Given the description of an element on the screen output the (x, y) to click on. 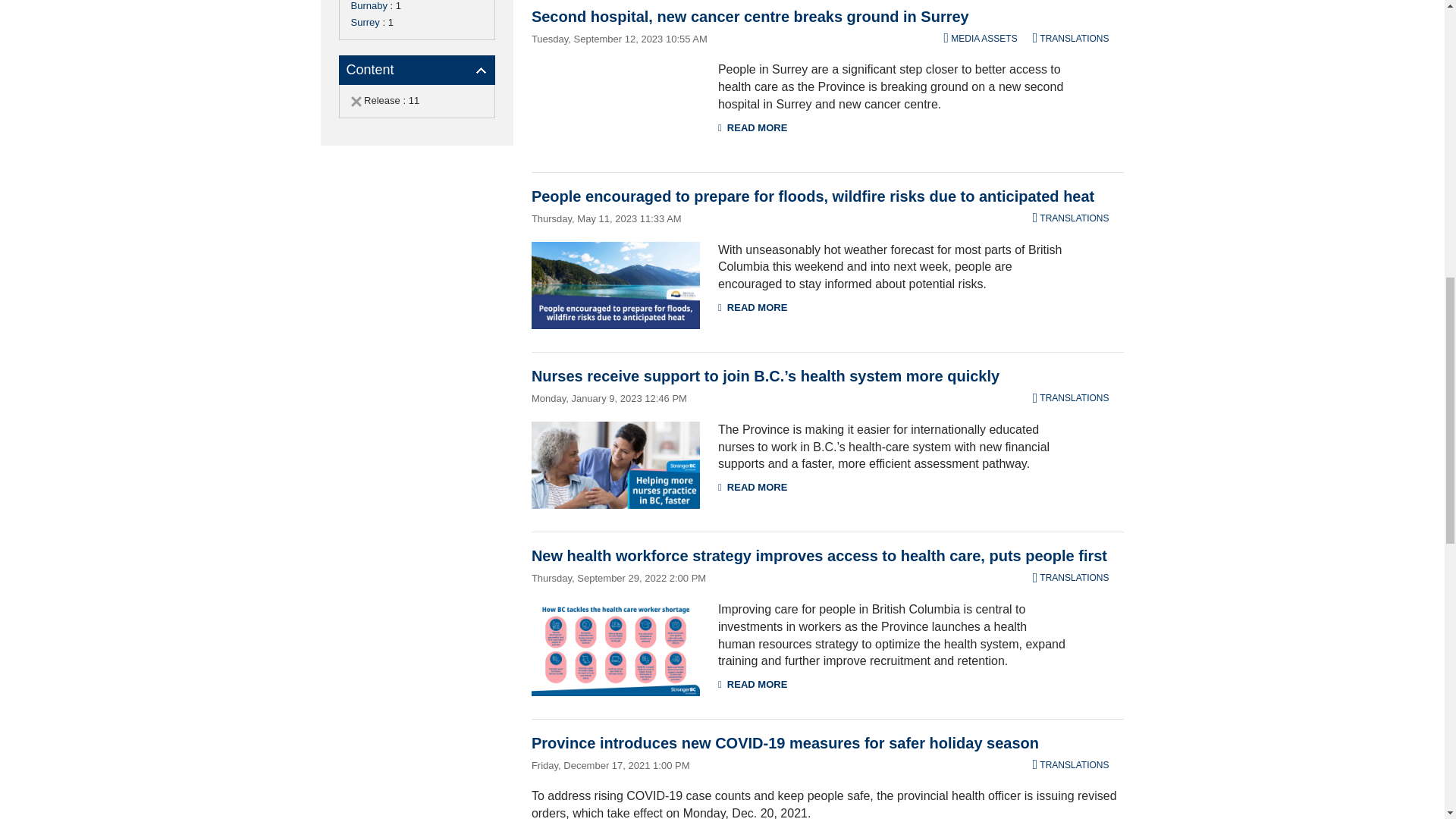
Prepare for floods, wildfire risks due to anticipated heat (615, 284)
Second hospital, new cancer centre breaks ground in Surrey (615, 105)
